Given the description of an element on the screen output the (x, y) to click on. 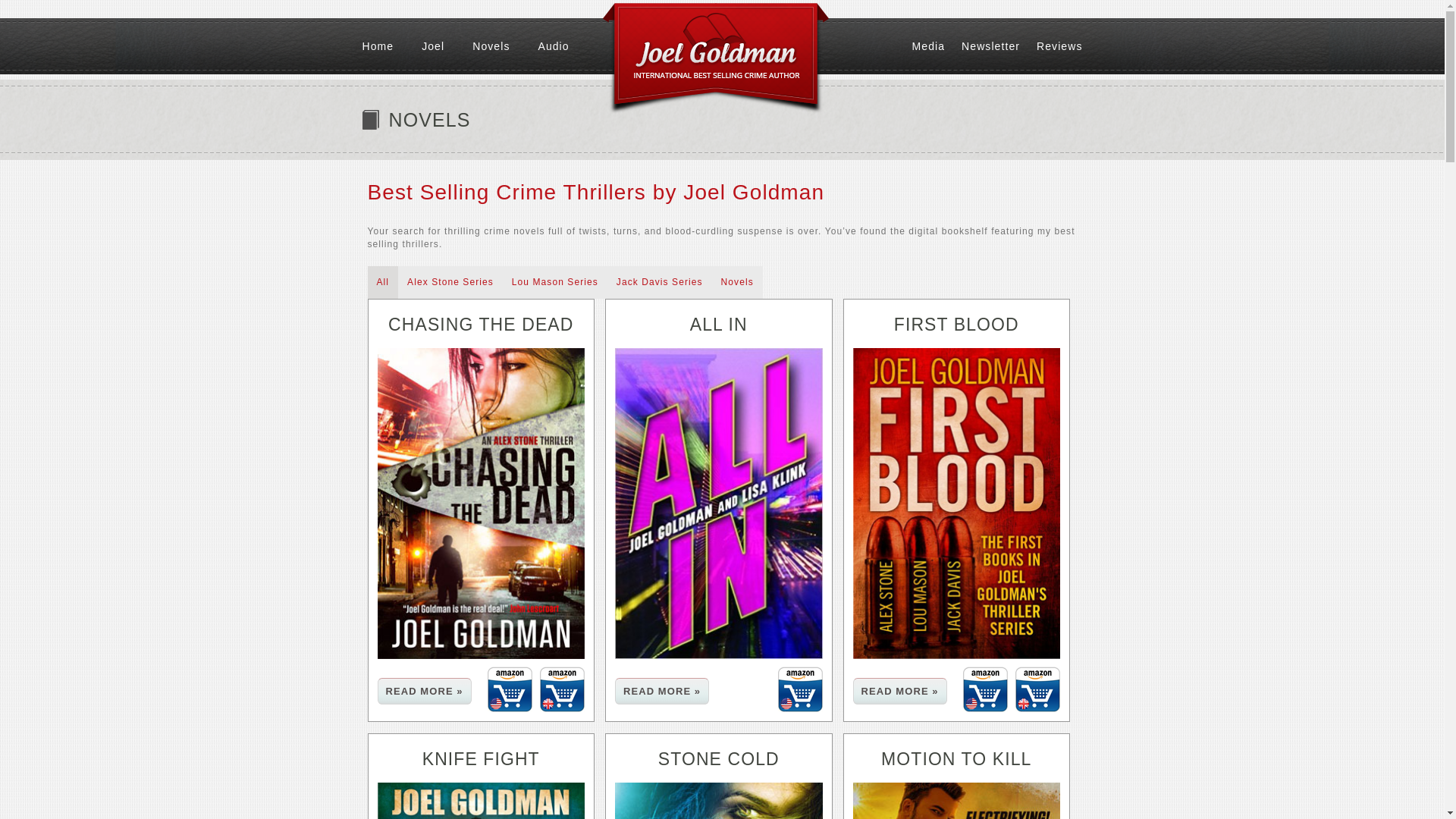
Purchase from Amazon US (799, 688)
More about Chasing The Dead (424, 691)
Purchase from Amazon US (509, 688)
Jack Davis Series (659, 282)
Newsletter (998, 46)
CHASING THE DEAD (480, 324)
Home (392, 46)
More about First Blood (898, 691)
Audio (566, 46)
Media (937, 46)
Lou Mason Series (554, 282)
All (381, 282)
Novels (504, 46)
Novels (736, 282)
Joel (446, 46)
